Given the description of an element on the screen output the (x, y) to click on. 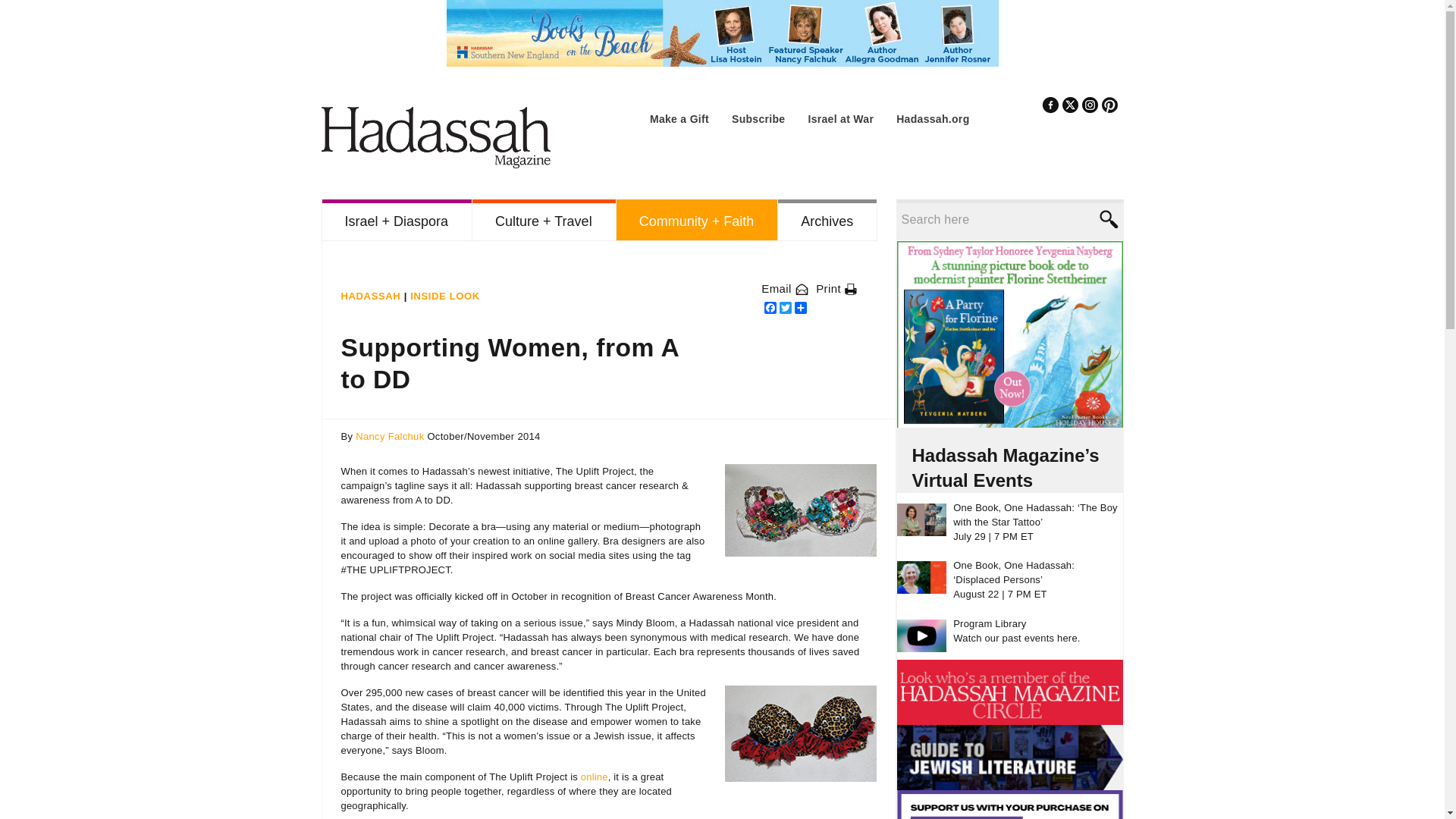
Search (1107, 219)
Israel at War (840, 119)
Search (1107, 219)
Make a Gift (679, 119)
Hadassah.org (932, 119)
Subscribe (758, 119)
Archives (826, 219)
